Given the description of an element on the screen output the (x, y) to click on. 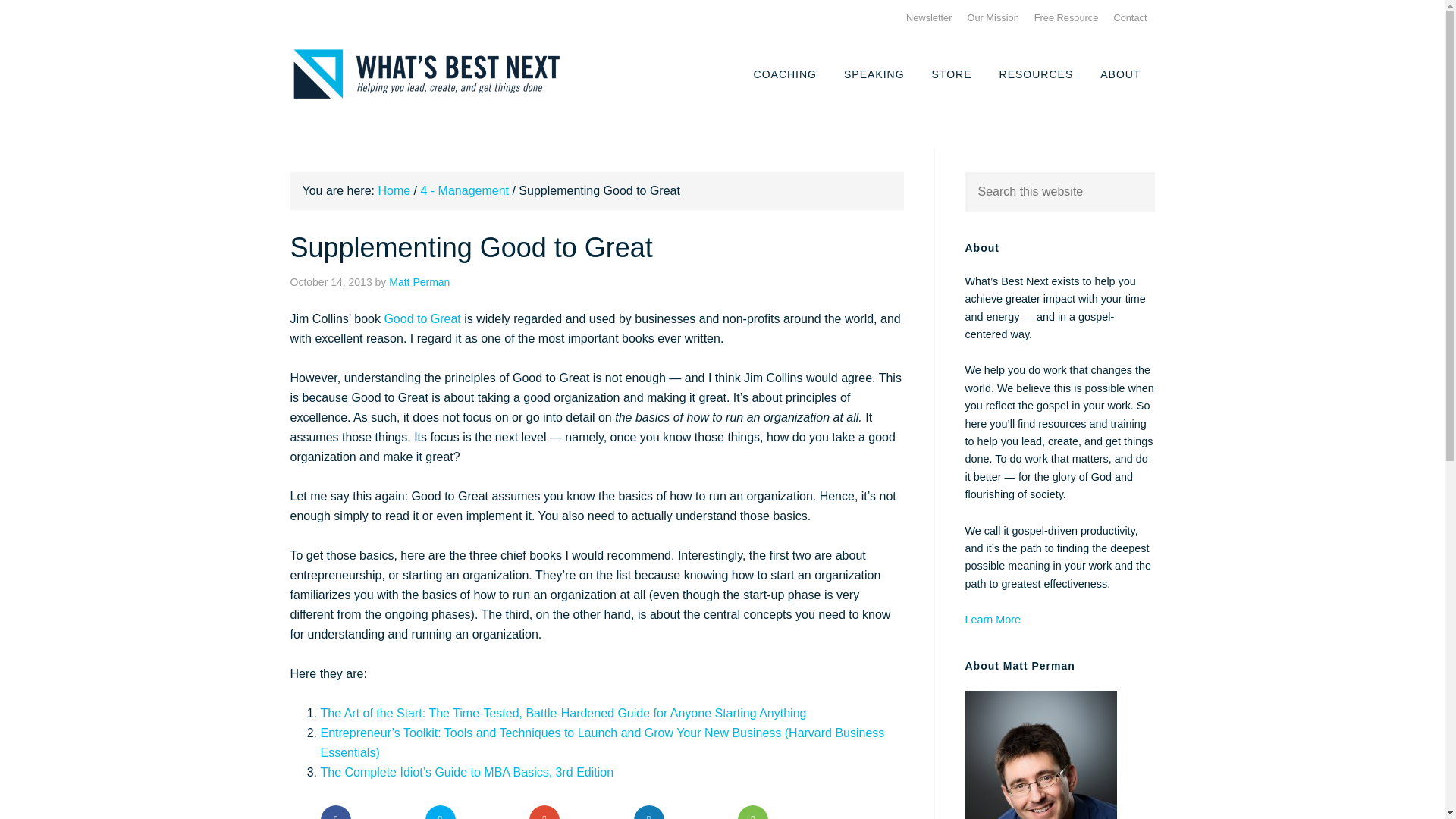
Free Resource (1066, 18)
Our Mission (991, 18)
ABOUT (1120, 73)
Facebook (335, 812)
Matt Perman (418, 282)
SPEAKING (873, 73)
Good to Great (422, 318)
Twitter (440, 812)
